Given the description of an element on the screen output the (x, y) to click on. 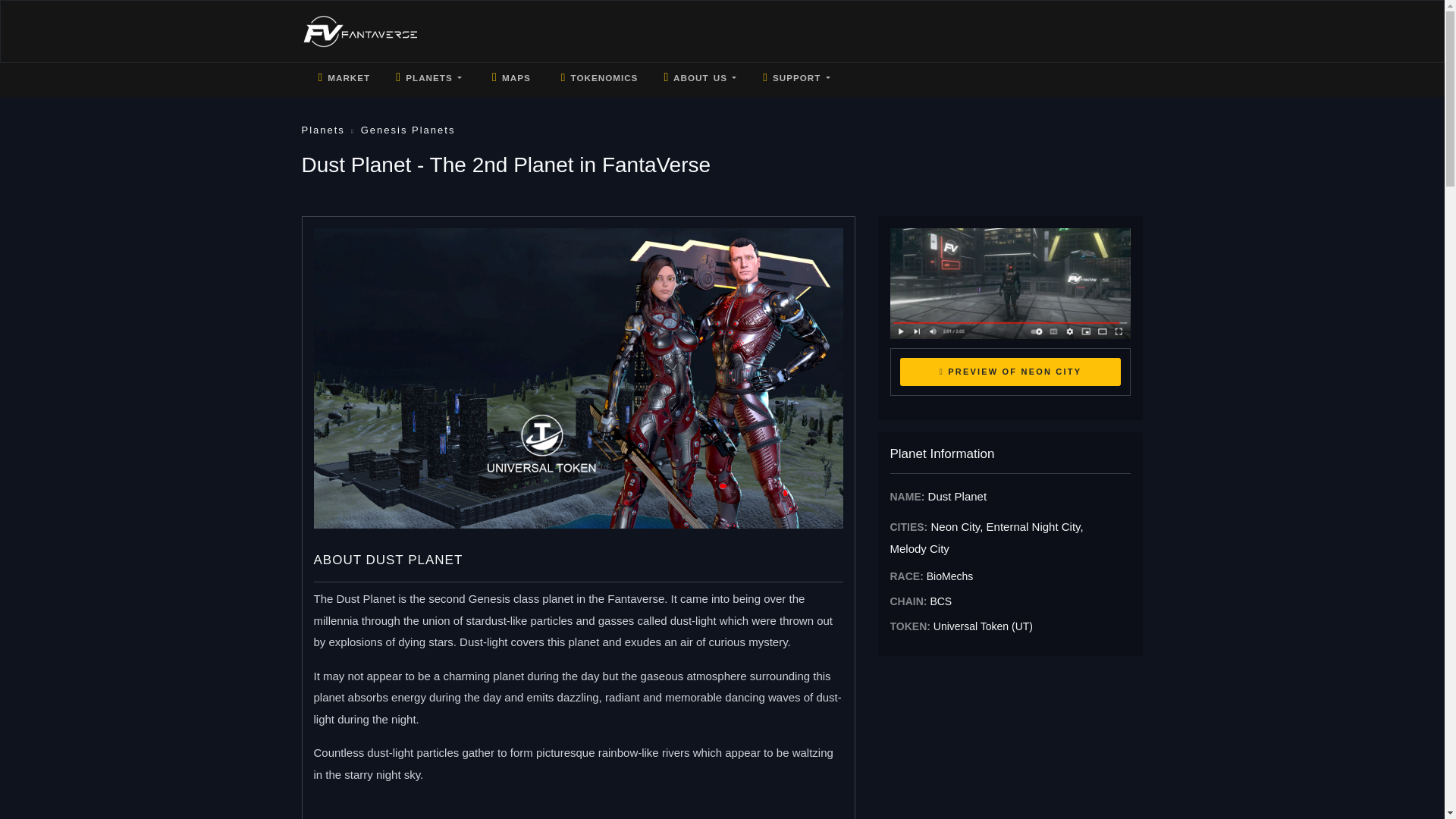
TOKEN: (909, 625)
PLANETS (430, 75)
TOKENOMICS (598, 75)
CITIES: (908, 526)
PREVIEW OF NEON CITY (1010, 371)
ABOUT US (699, 75)
CHAIN: (908, 601)
MAPS (510, 75)
RACE: (906, 576)
MARKET (342, 75)
SUPPORT (796, 75)
